Given the description of an element on the screen output the (x, y) to click on. 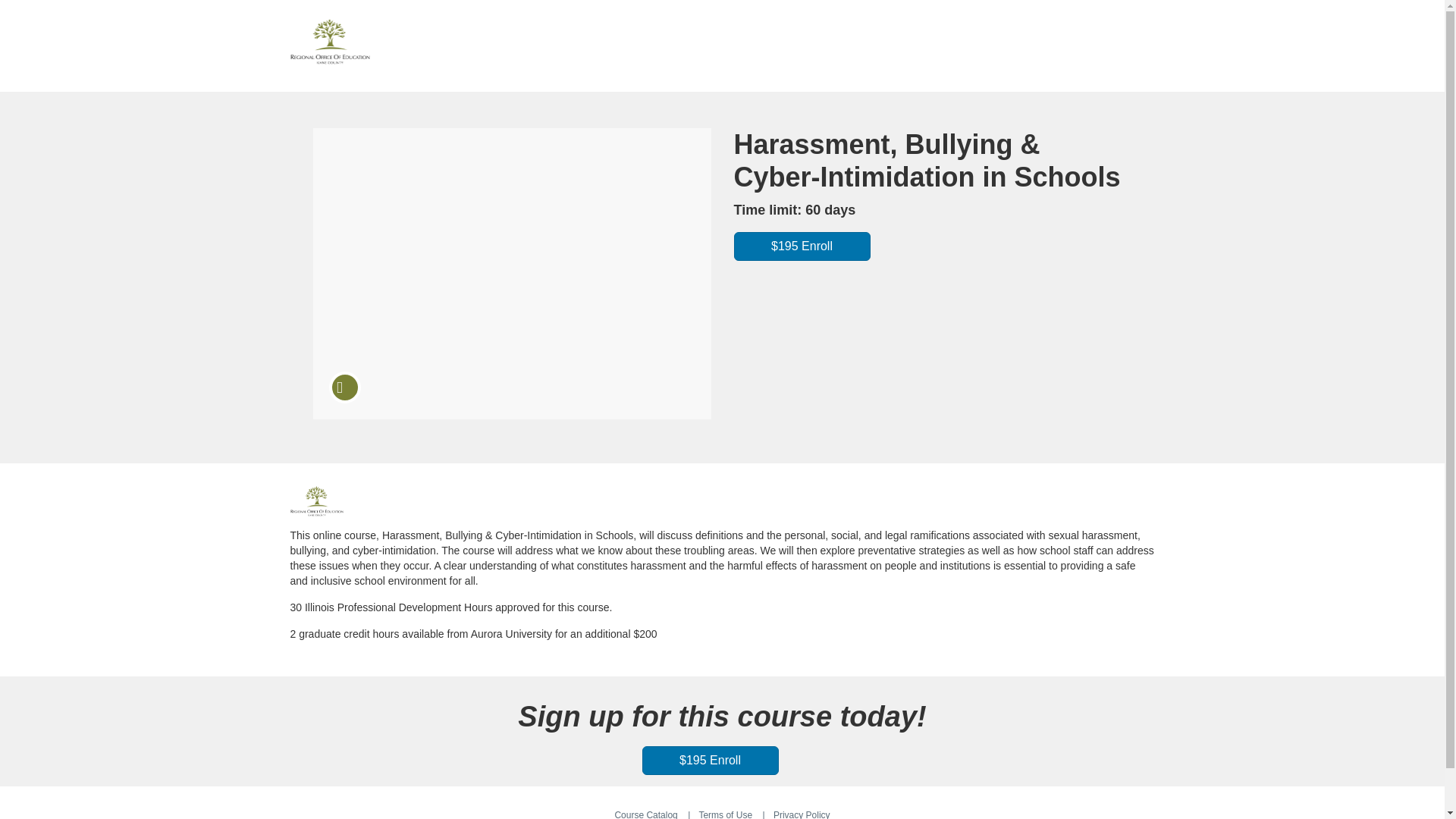
Terms of Use (725, 814)
Online Professional Learning (315, 501)
Privacy Policy (801, 814)
Course (345, 387)
Course Catalog (645, 814)
